Given the description of an element on the screen output the (x, y) to click on. 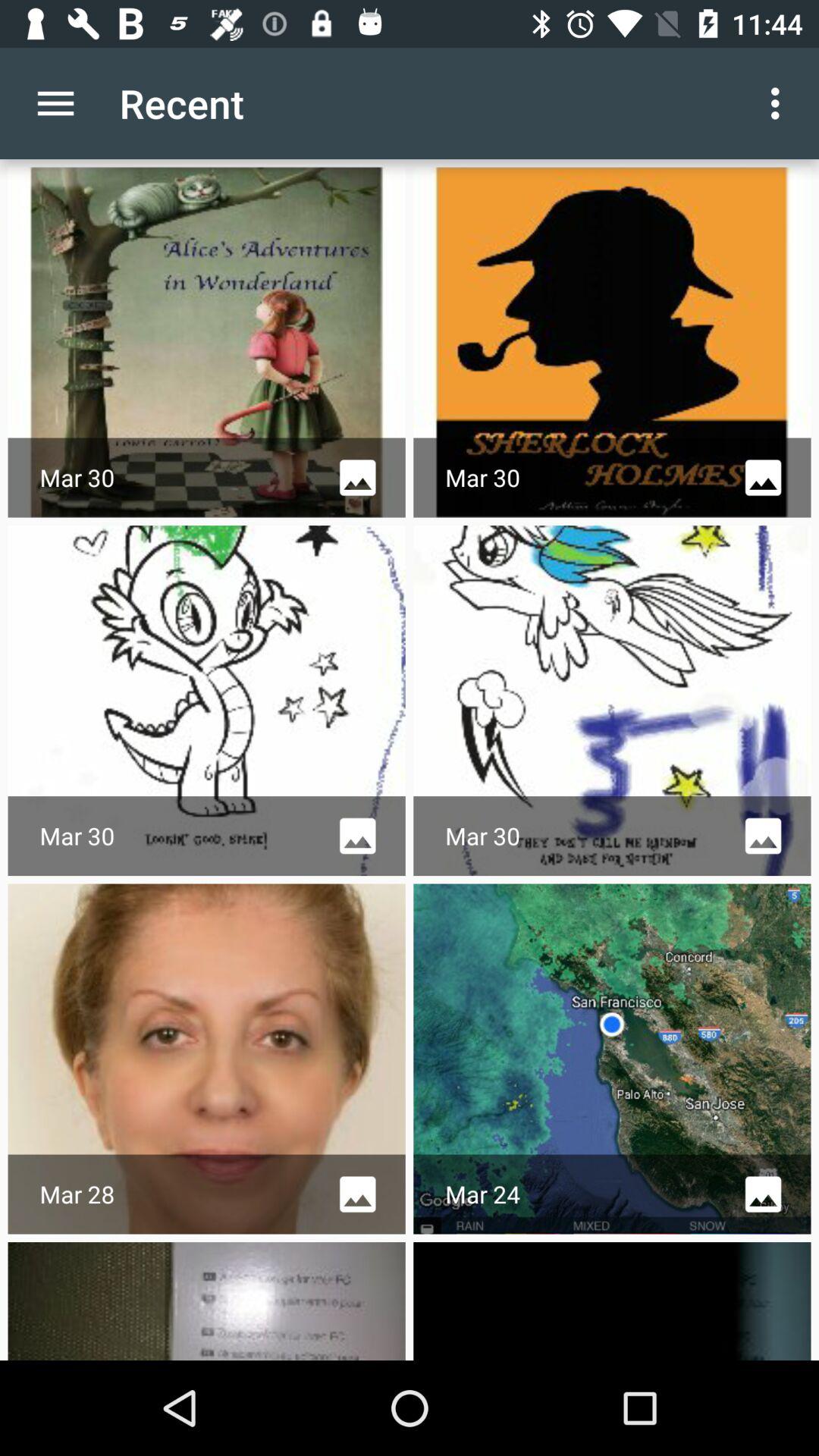
turn off app to the right of recent icon (779, 103)
